Given the description of an element on the screen output the (x, y) to click on. 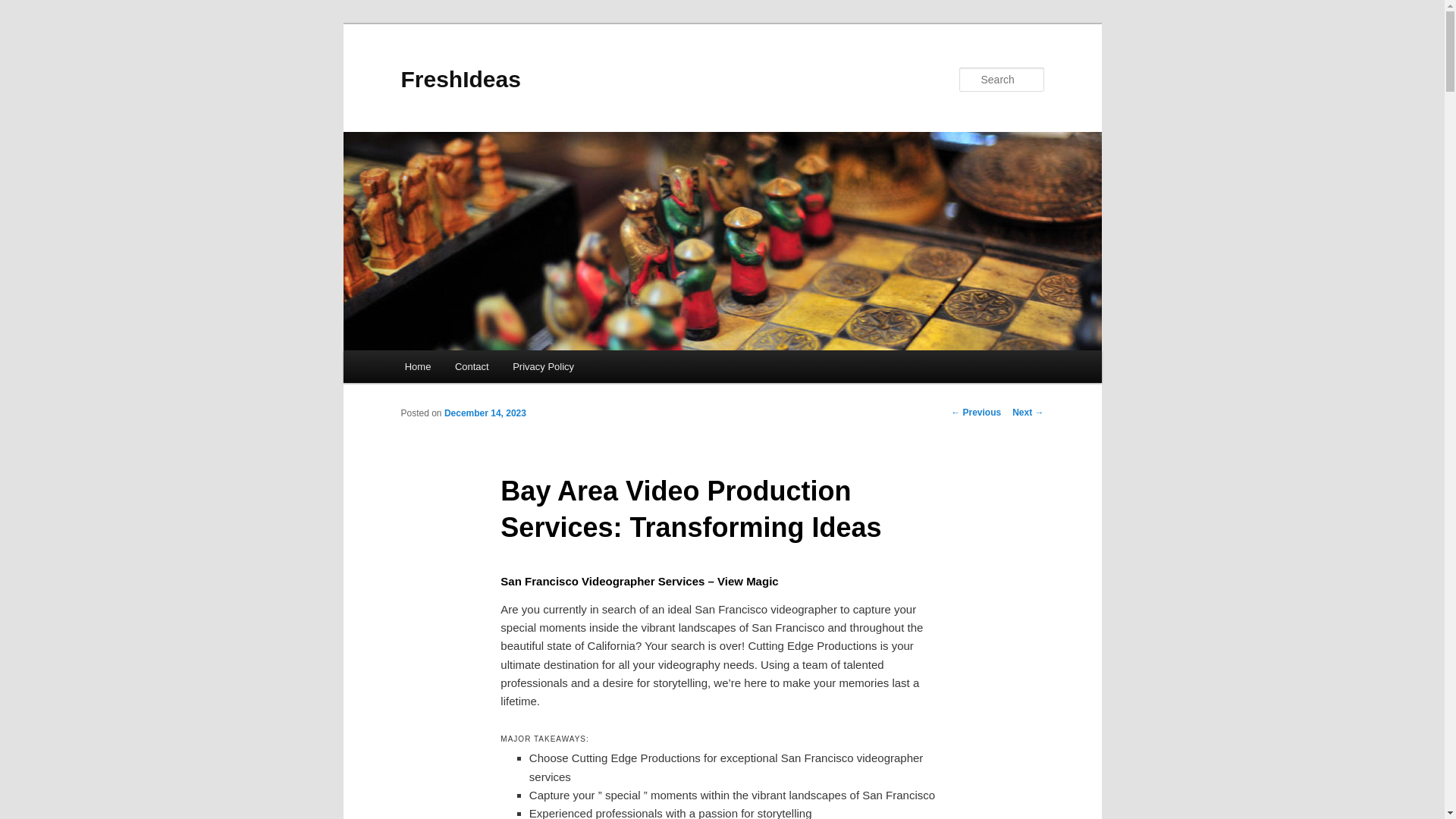
December 14, 2023 (484, 412)
Search (24, 8)
FreshIdeas (459, 78)
Privacy Policy (542, 366)
Contact (471, 366)
Home (417, 366)
8:16 pm (484, 412)
